Given the description of an element on the screen output the (x, y) to click on. 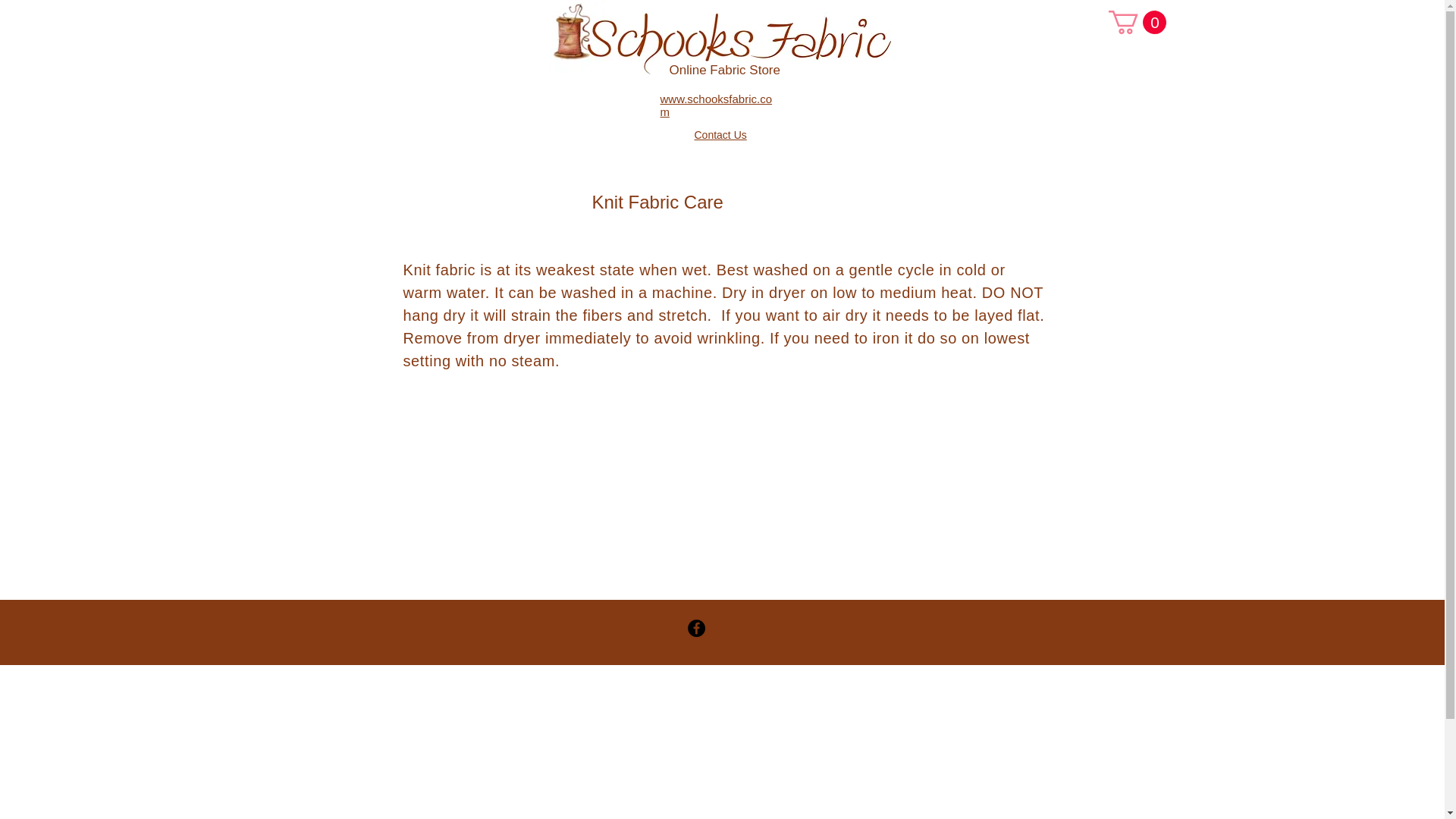
0 (1137, 22)
0 (1137, 22)
Online Fabric Store (723, 69)
Contact Us (720, 134)
www.schooksfabric.com (715, 104)
